Given the description of an element on the screen output the (x, y) to click on. 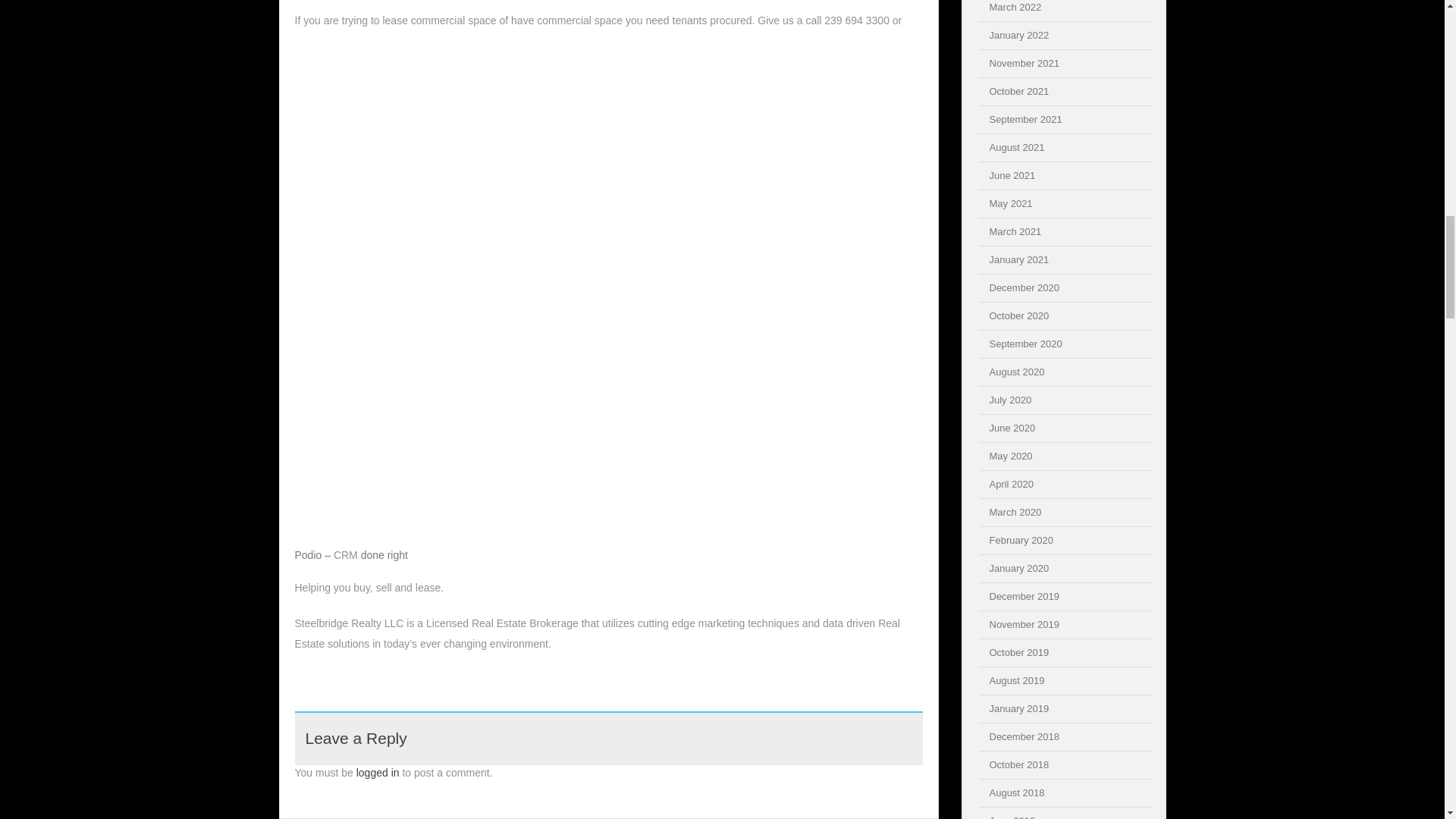
logged in (377, 772)
CRM (345, 554)
